Given the description of an element on the screen output the (x, y) to click on. 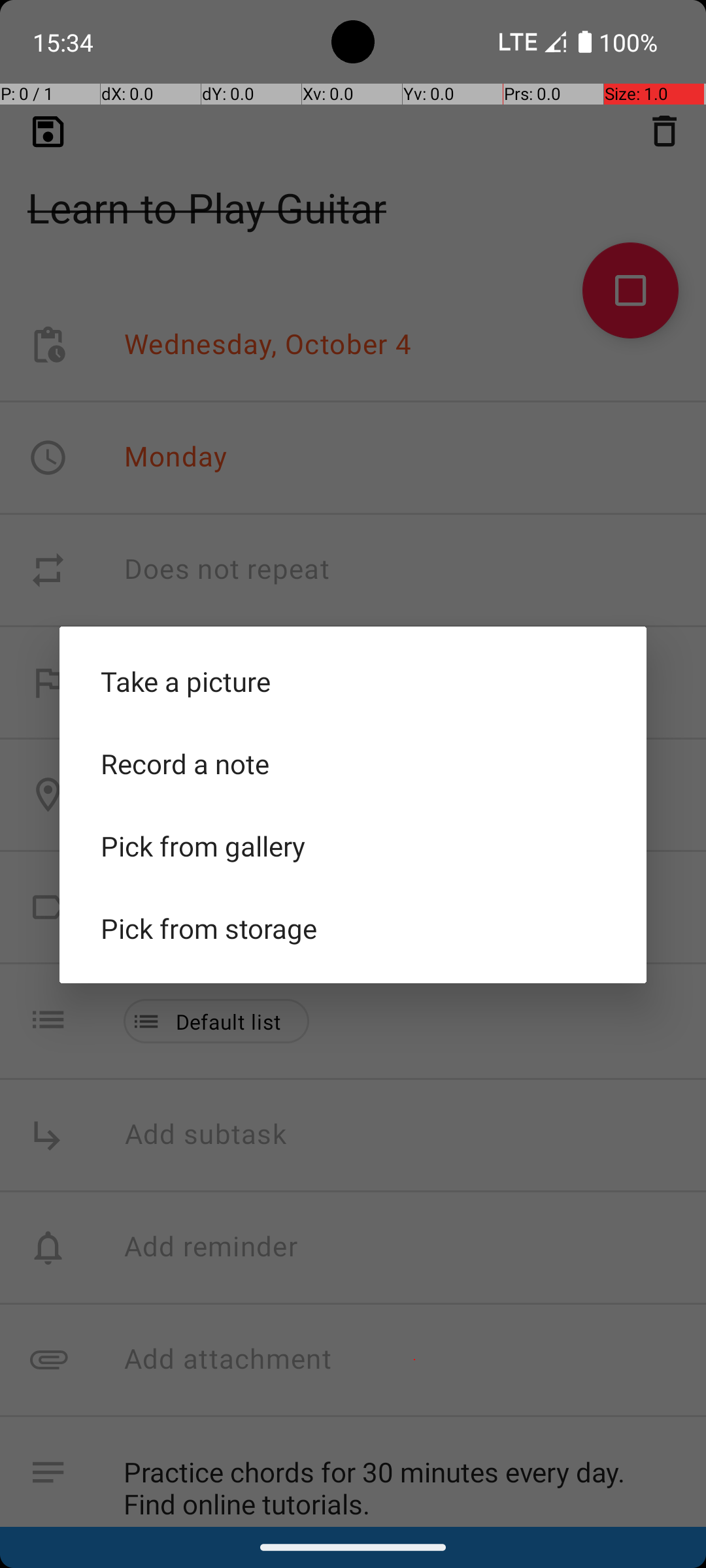
Take a picture Element type: android.widget.TextView (352, 681)
Record a note Element type: android.widget.TextView (352, 763)
Pick from gallery Element type: android.widget.TextView (352, 845)
Pick from storage Element type: android.widget.TextView (352, 928)
